Given the description of an element on the screen output the (x, y) to click on. 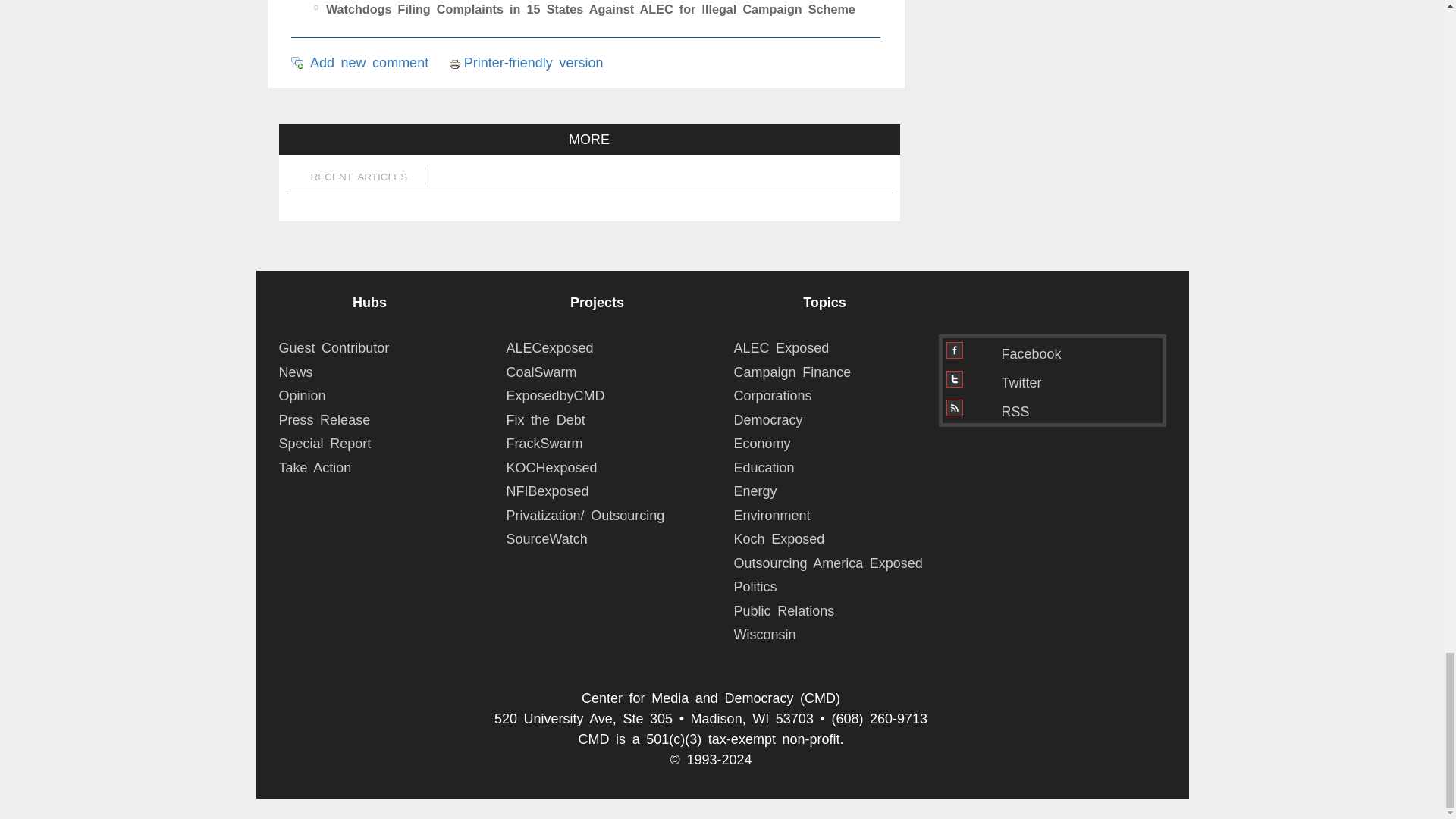
Share your thoughts and opinions related to this posting. (369, 62)
Display a printer-friendly version of this page. (526, 62)
Printer-friendly version (456, 63)
